Given the description of an element on the screen output the (x, y) to click on. 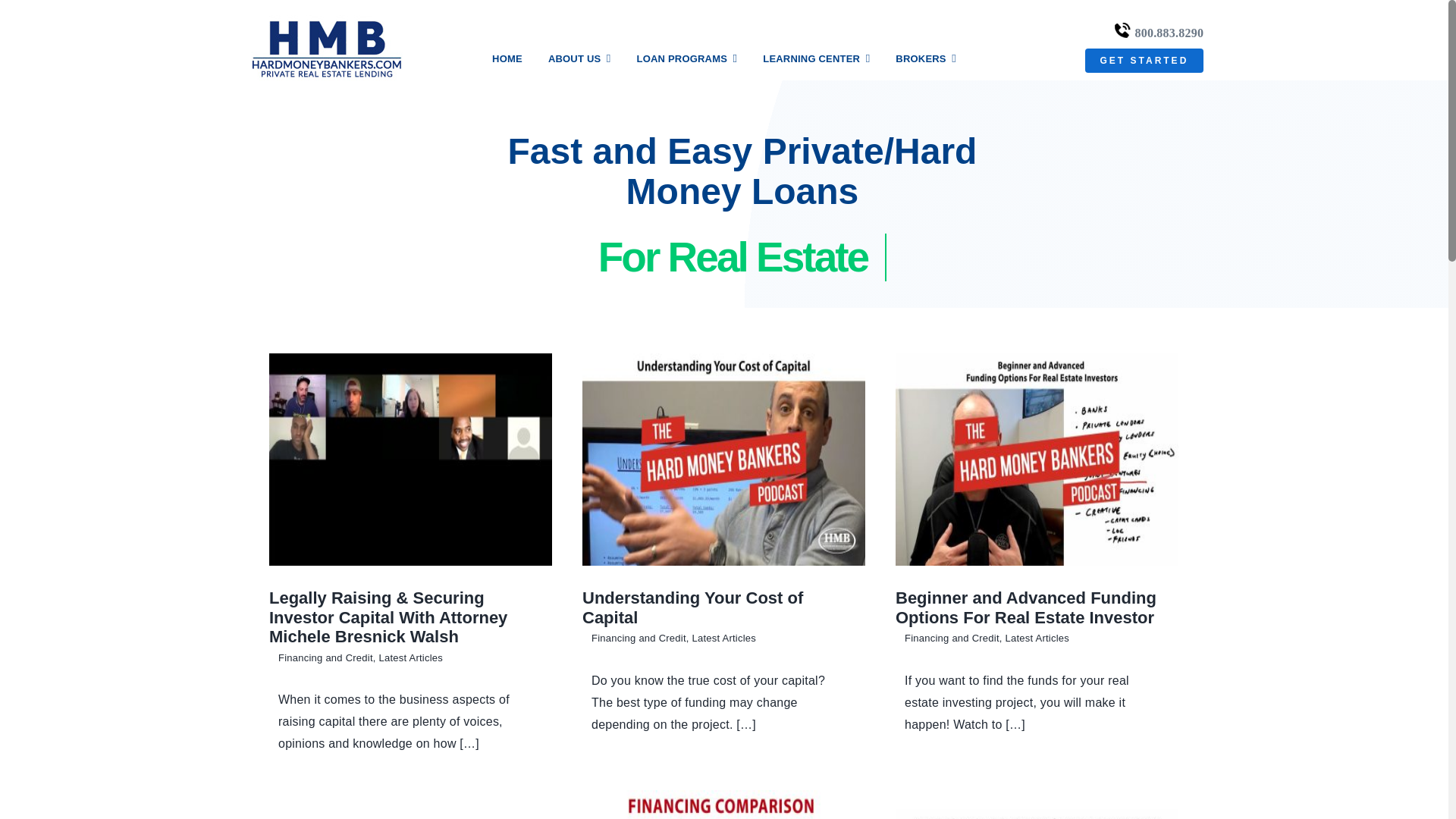
Financing and Credit (638, 637)
ABOUT US (579, 58)
Latest Articles (723, 637)
HOME (507, 58)
Latest Articles (410, 657)
BROKERS (925, 58)
GET STARTED (1144, 60)
LEARNING CENTER (816, 58)
Understanding Your Cost of Capital (692, 607)
